Given the description of an element on the screen output the (x, y) to click on. 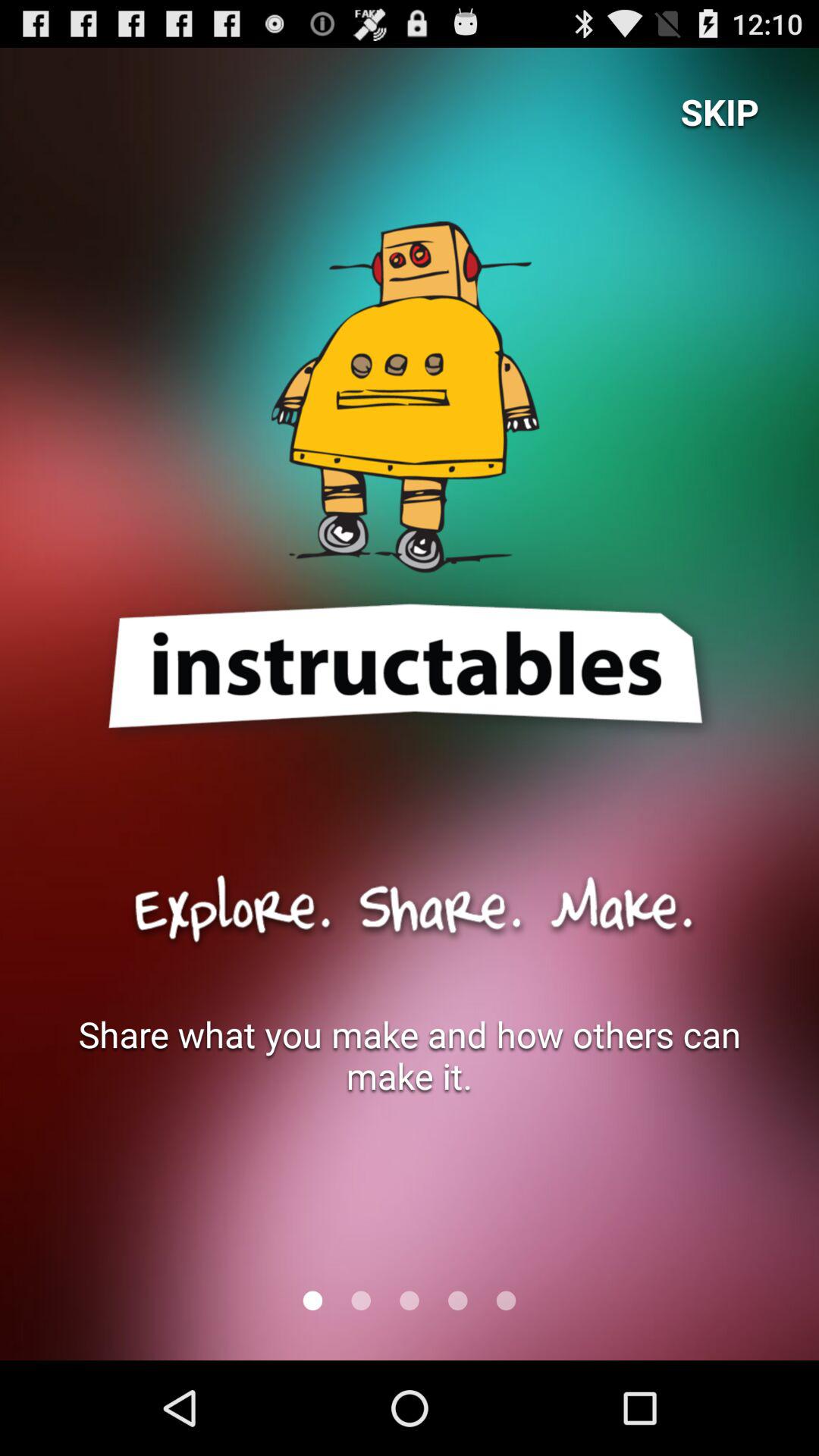
jump to skip item (719, 111)
